Given the description of an element on the screen output the (x, y) to click on. 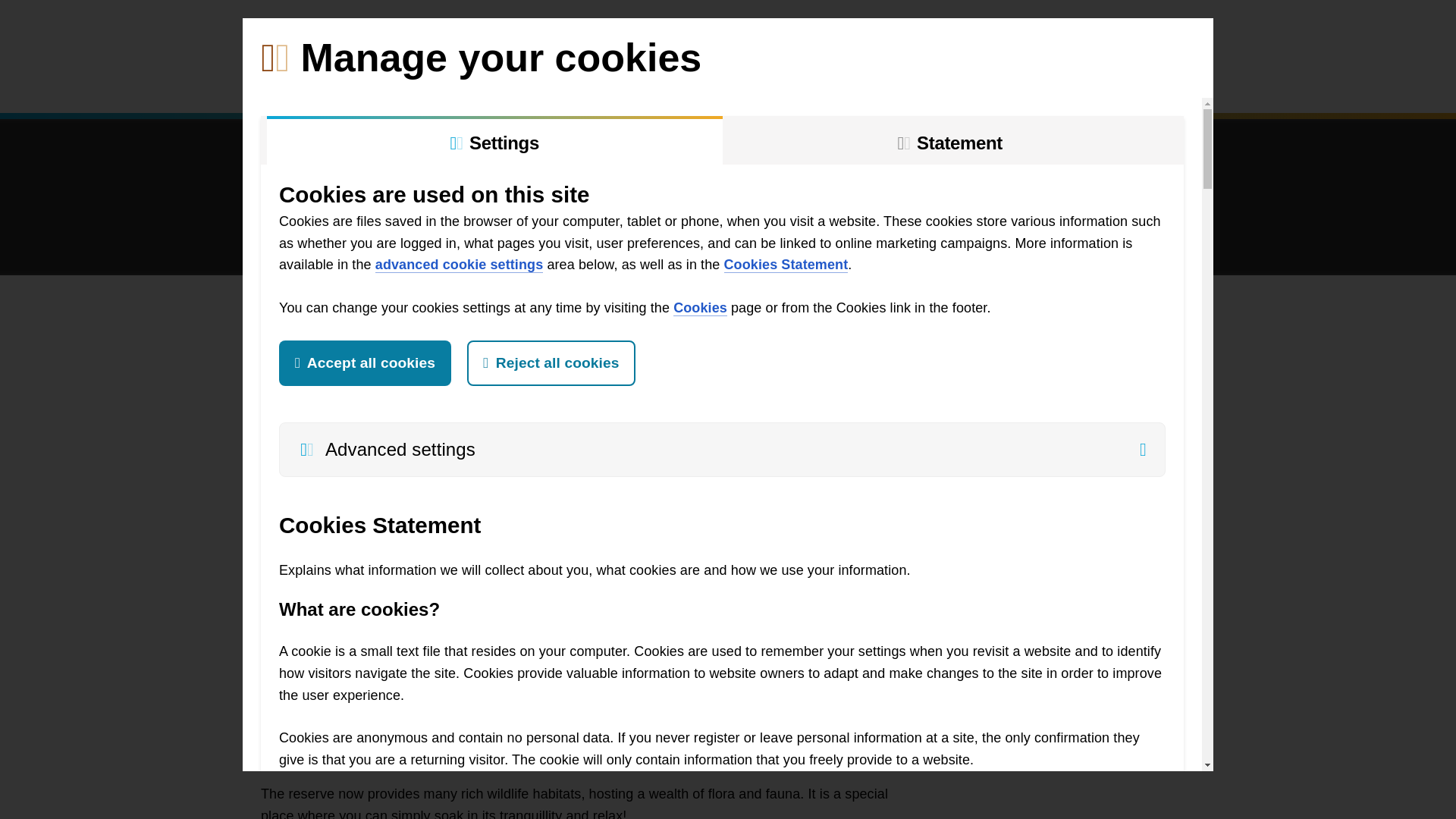
Conservation and Safety (687, 83)
Contact (1039, 83)
Coast (443, 83)
Directory of beaches, parks and reserves in the East Riding (1185, 32)
Countryside (538, 83)
What's on (831, 83)
Home (283, 83)
List of East Riding Culture and Leisure sites (379, 33)
Volunteering (356, 83)
